Given the description of an element on the screen output the (x, y) to click on. 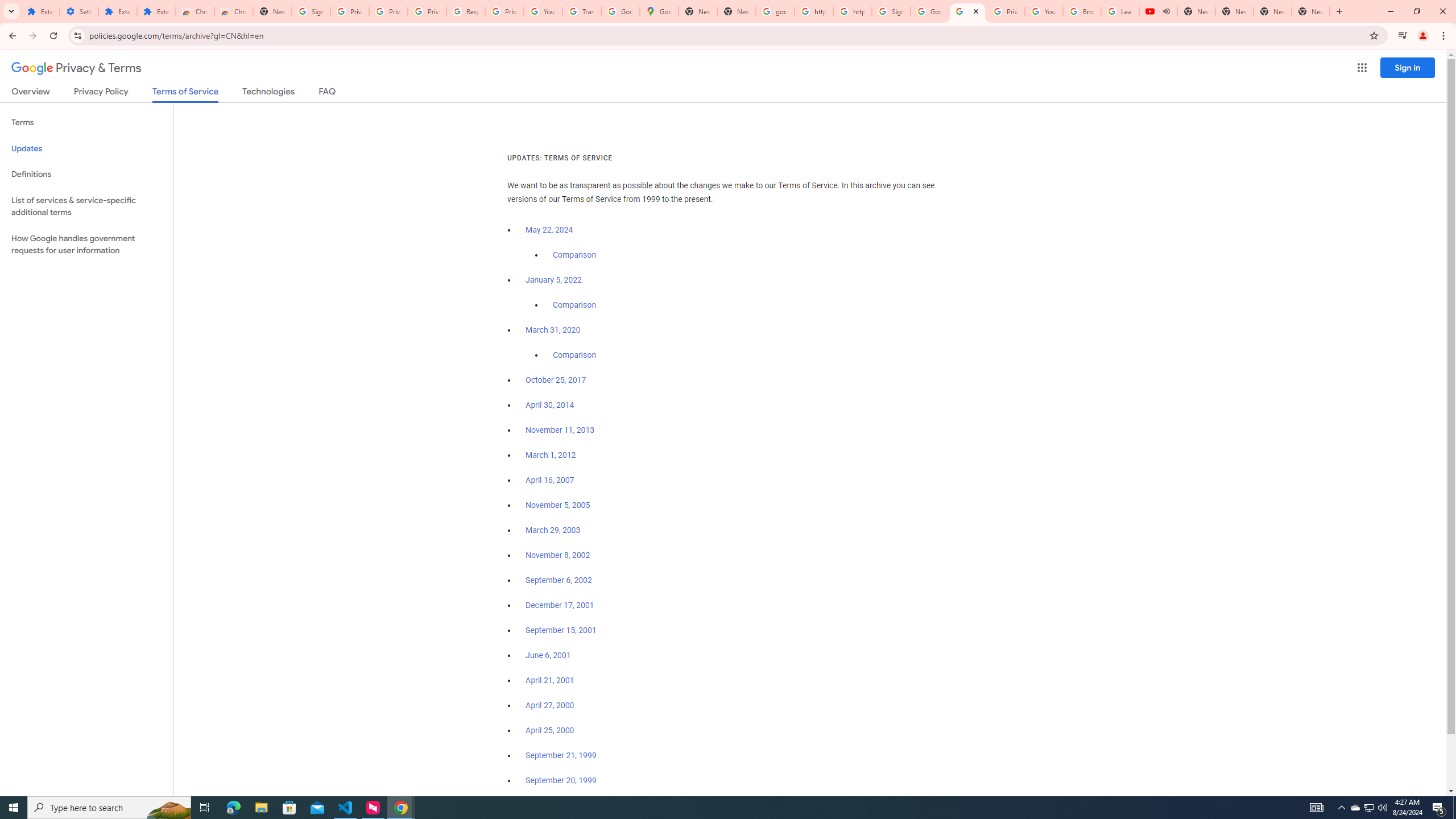
November 11, 2013 (560, 430)
Google Maps (659, 11)
December 17, 2001 (559, 605)
October 25, 2017 (555, 380)
November 5, 2005 (557, 505)
